Given the description of an element on the screen output the (x, y) to click on. 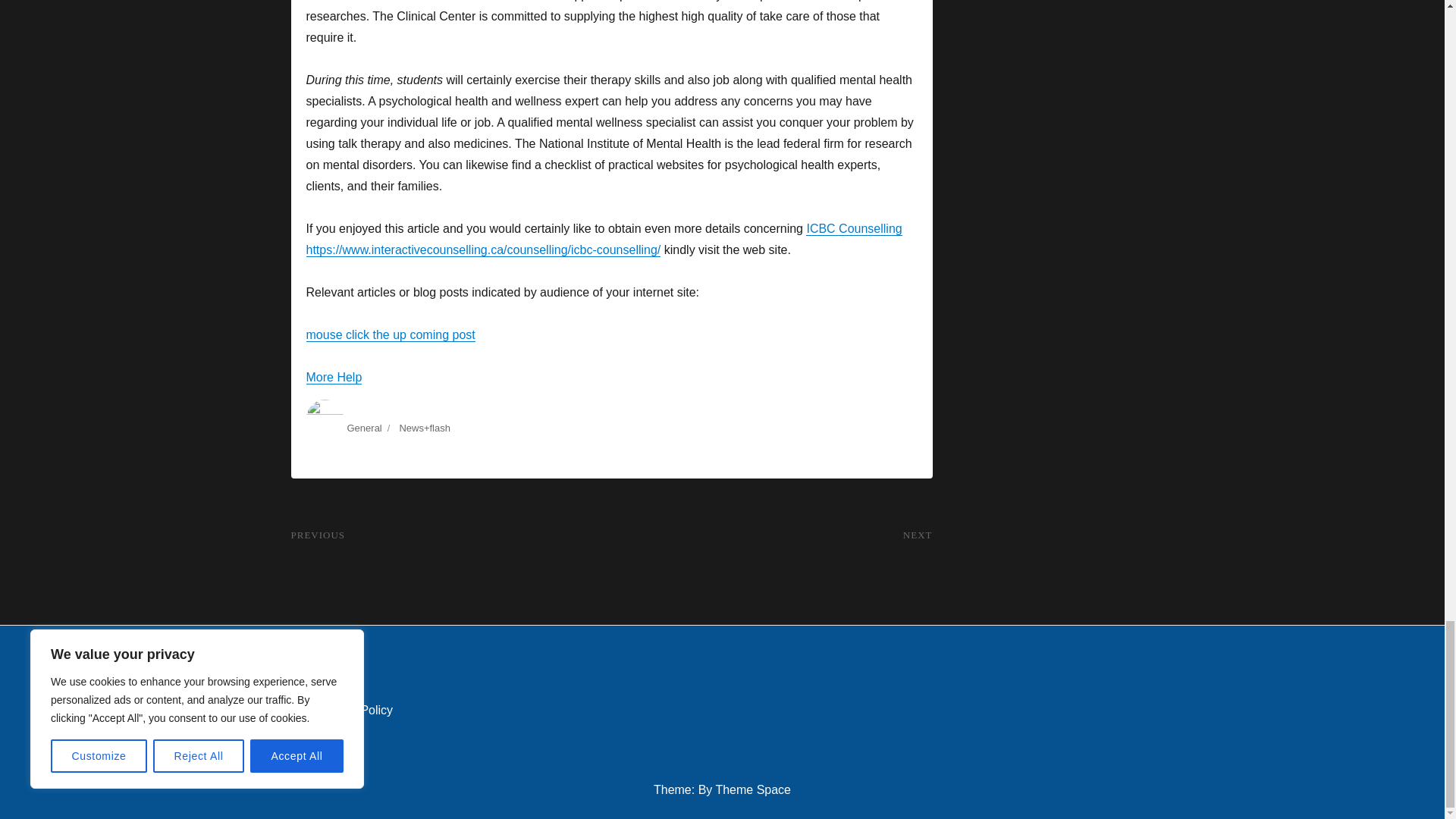
mouse click the up coming post (771, 551)
General (390, 334)
More Help (364, 428)
